Given the description of an element on the screen output the (x, y) to click on. 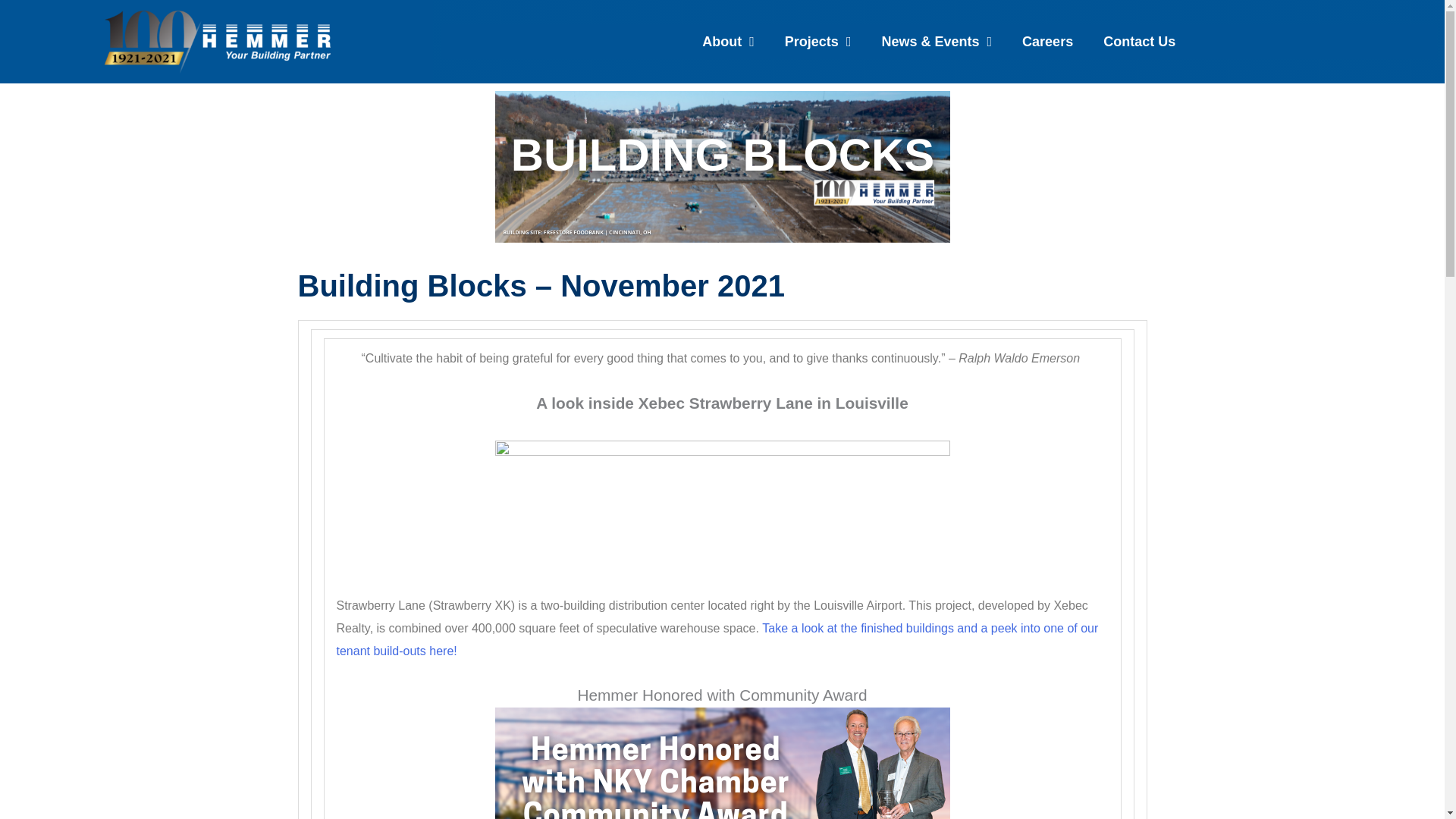
Careers (1047, 41)
About (728, 41)
Contact Us (1139, 41)
Projects (818, 41)
